Given the description of an element on the screen output the (x, y) to click on. 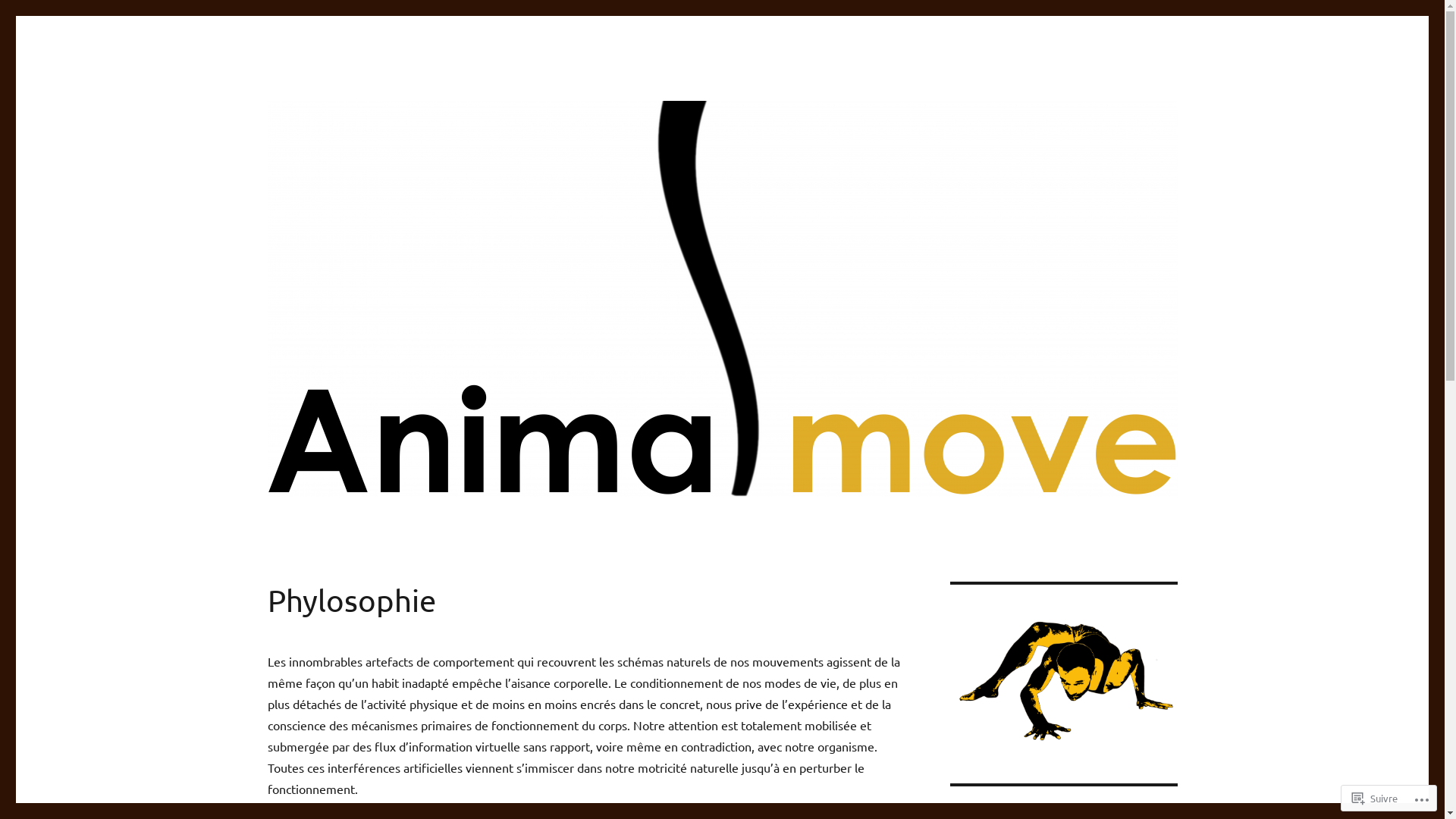
Suivre Element type: text (1374, 797)
